Given the description of an element on the screen output the (x, y) to click on. 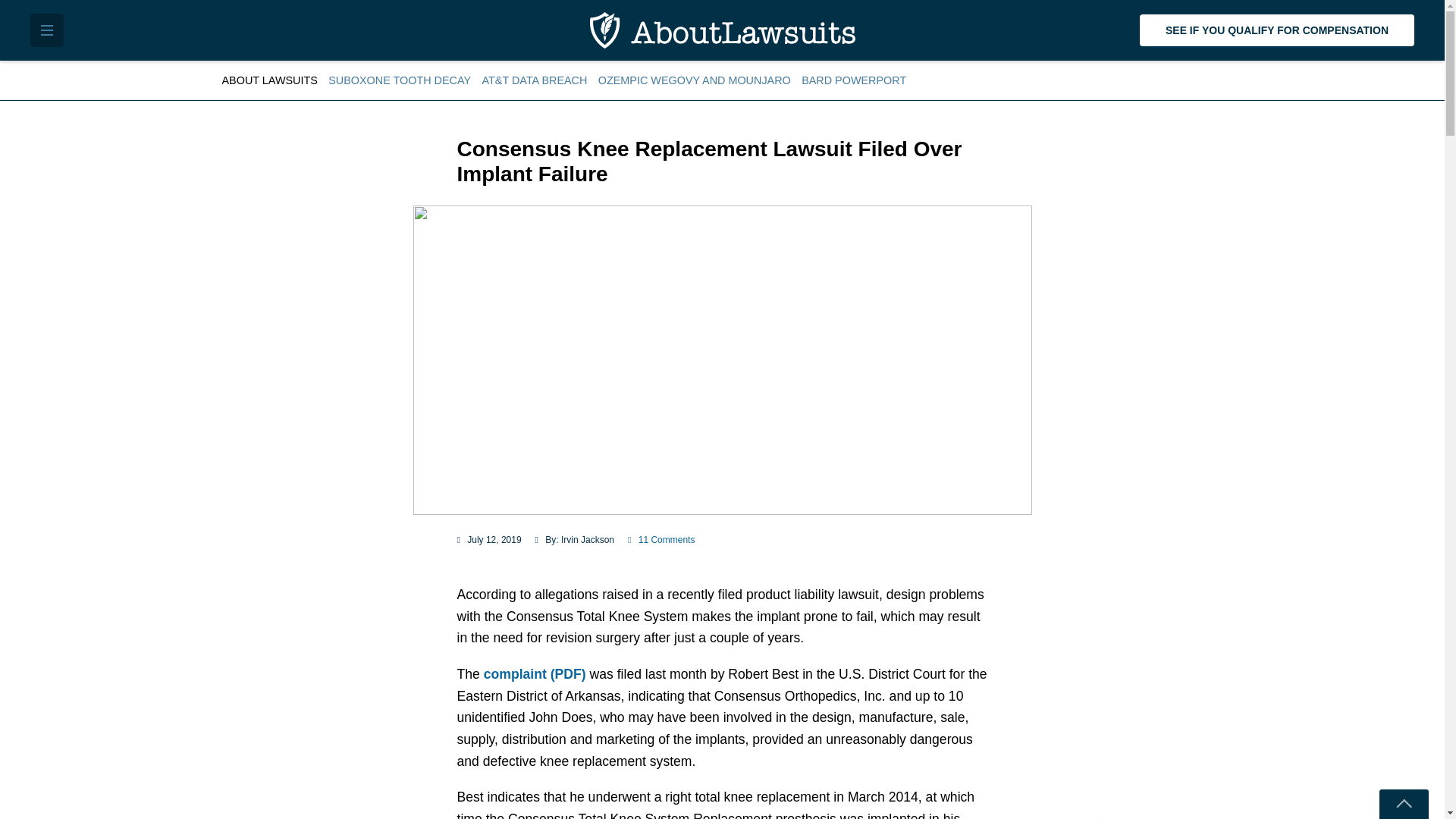
Toggle newsletter signup form. (1403, 804)
SEE IF YOU QUALIFY FOR COMPENSATION (1276, 30)
SUBOXONE TOOTH DECAY (399, 80)
ABOUT LAWSUITS (272, 80)
OZEMPIC WEGOVY AND MOUNJARO (694, 80)
11 Comments (660, 539)
BARD POWERPORT (853, 80)
Toggle Menu (47, 29)
